Given the description of an element on the screen output the (x, y) to click on. 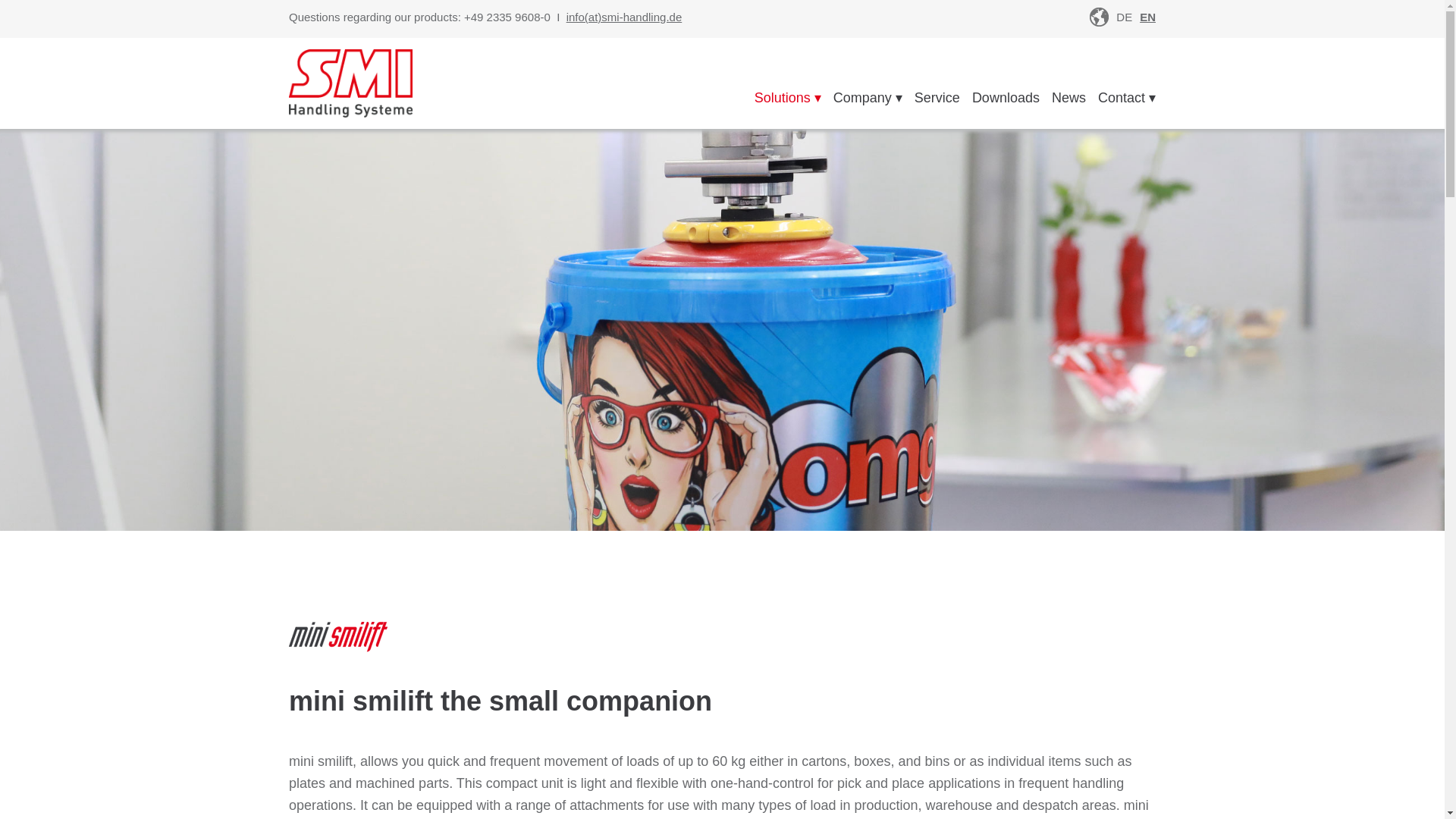
Downloads (1005, 97)
Service (936, 97)
News (1068, 97)
Downloads (1005, 97)
Icon language (1098, 16)
Service (936, 97)
News (1068, 97)
